Given the description of an element on the screen output the (x, y) to click on. 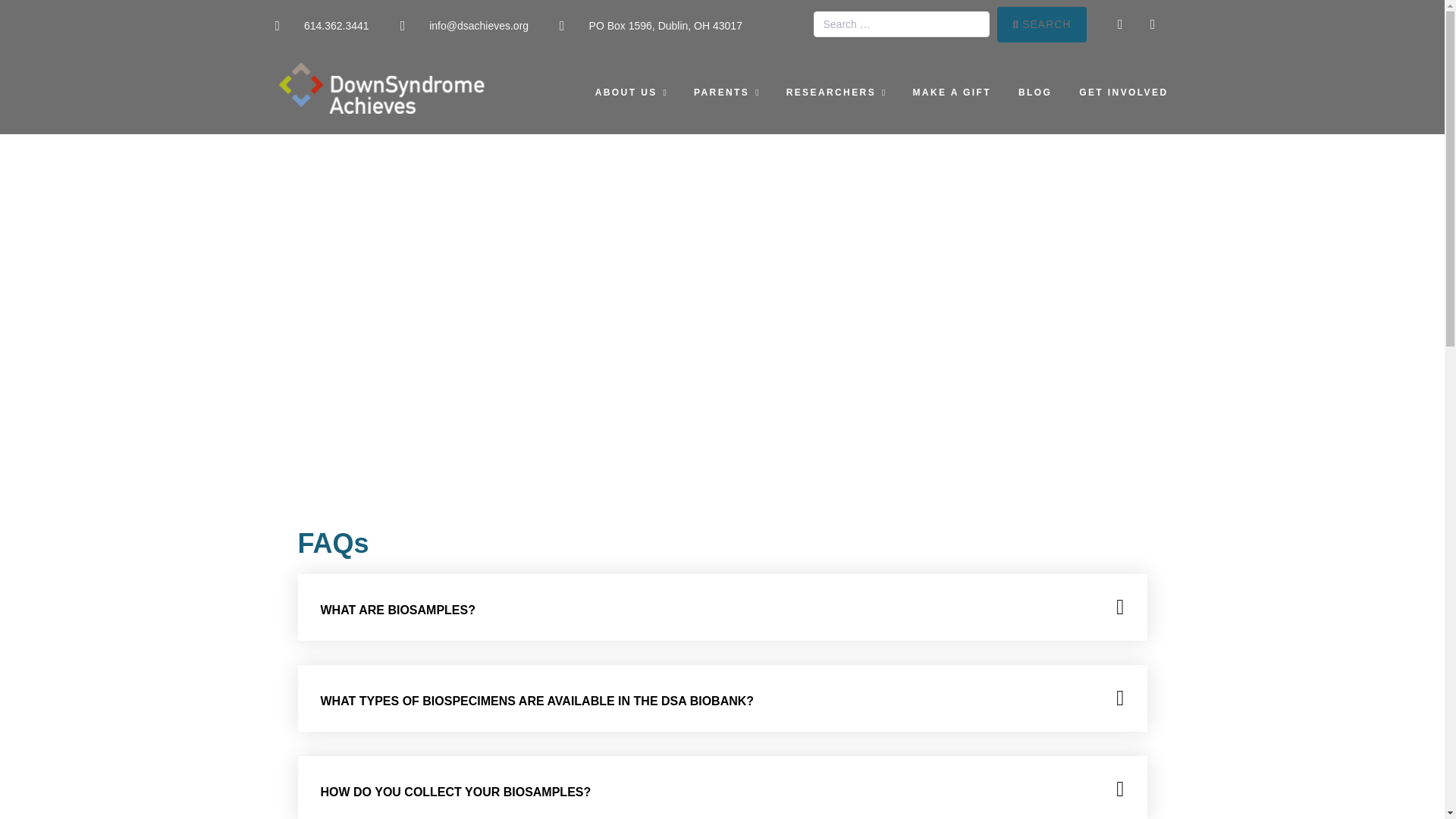
SEARCH (1041, 23)
GET INVOLVED (1123, 92)
MAKE A GIFT (951, 92)
BLOG (1034, 92)
WHAT ARE BIOSAMPLES? (397, 609)
HOW DO YOU COLLECT YOUR BIOSAMPLES? (455, 791)
PARENTS (726, 92)
ABOUT US (631, 92)
614.362.3441 (321, 25)
RESEARCHERS (835, 92)
